Given the description of an element on the screen output the (x, y) to click on. 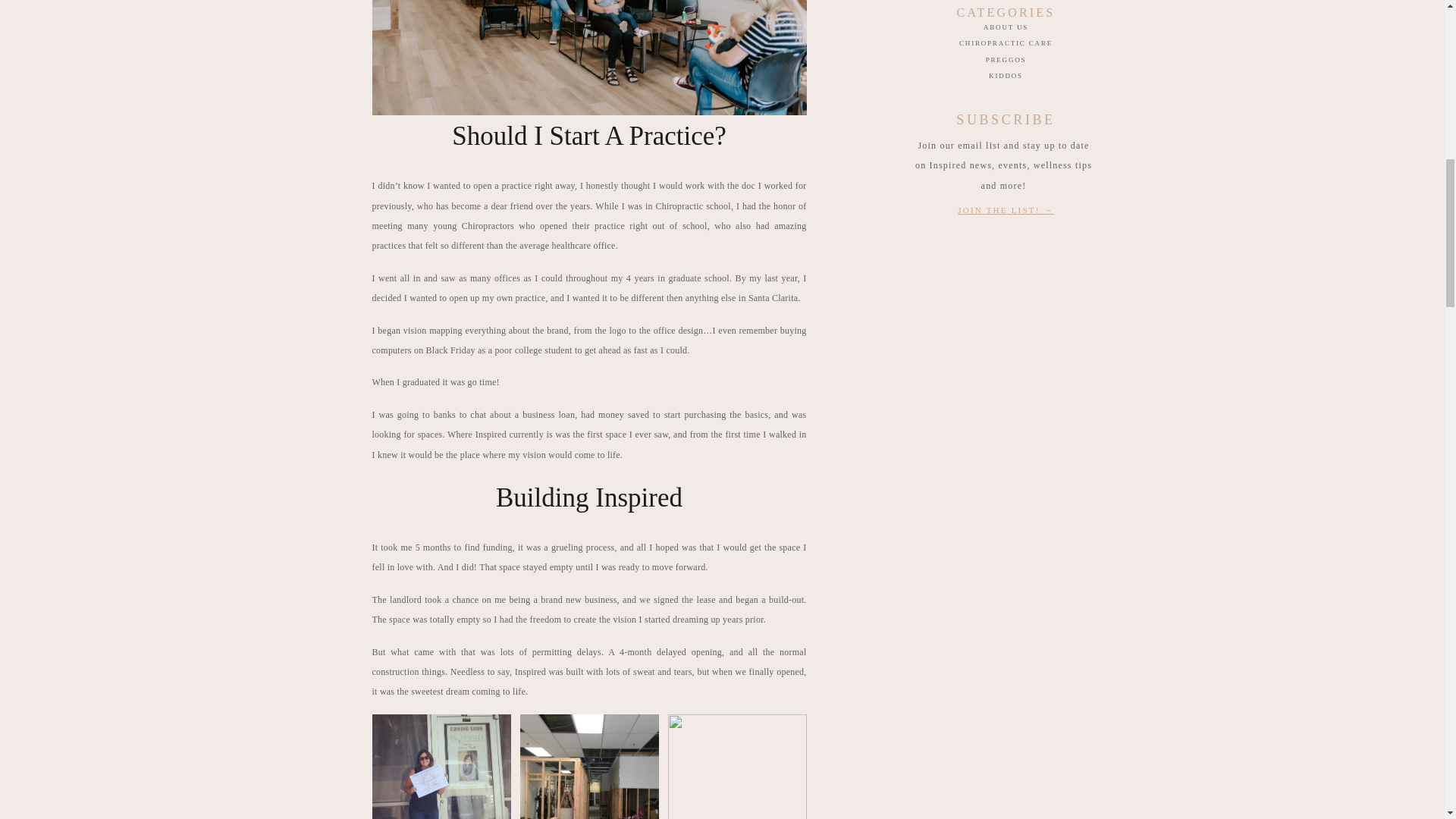
CHIROPRACTIC CARE (1005, 42)
KIDDOS (1005, 75)
ABOUT US (1005, 27)
PREGGOS (1005, 60)
